Given the description of an element on the screen output the (x, y) to click on. 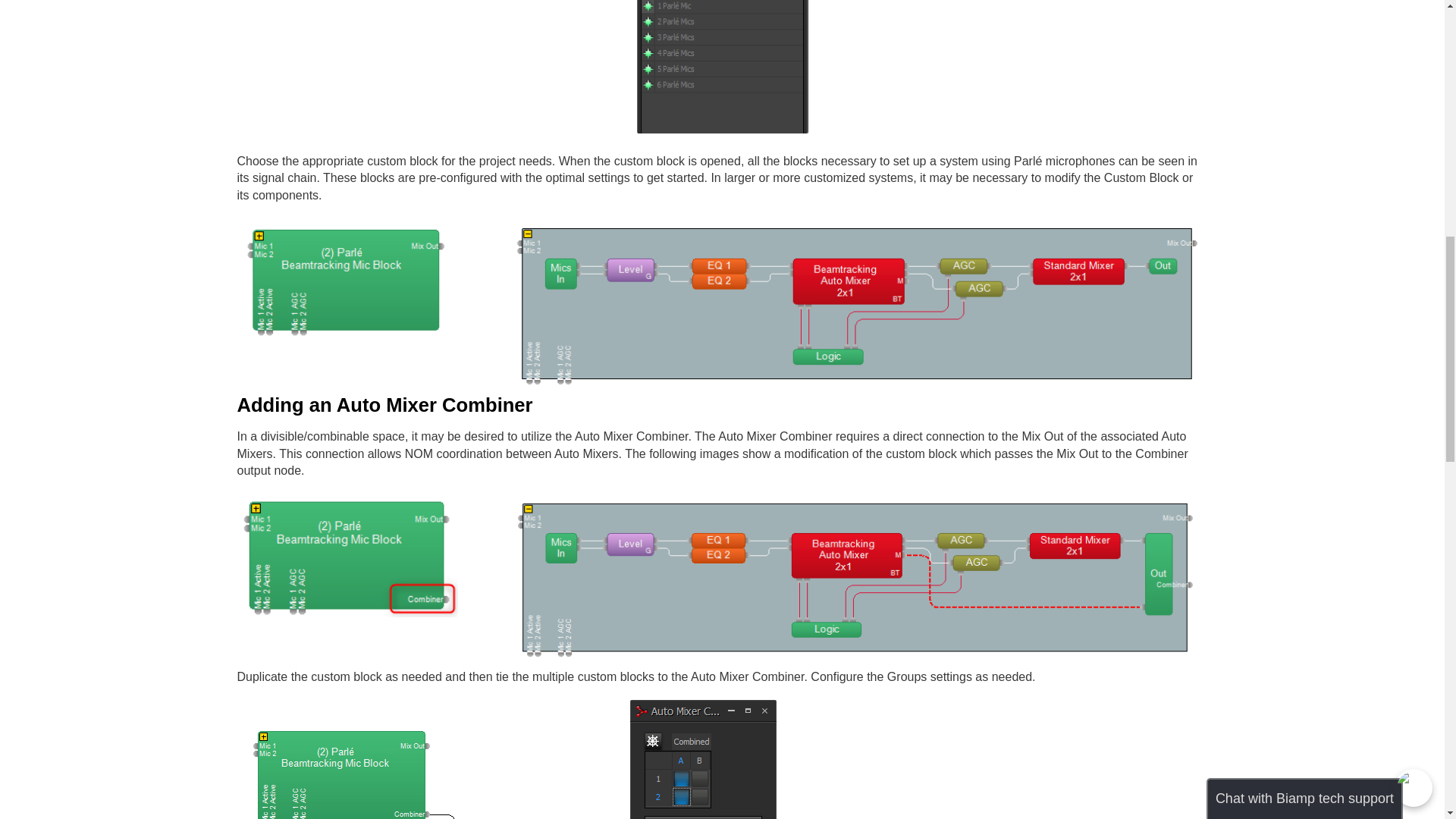
Processing Library w annotation.png (721, 131)
Custom Block with Combiner.png (347, 615)
